Given the description of an element on the screen output the (x, y) to click on. 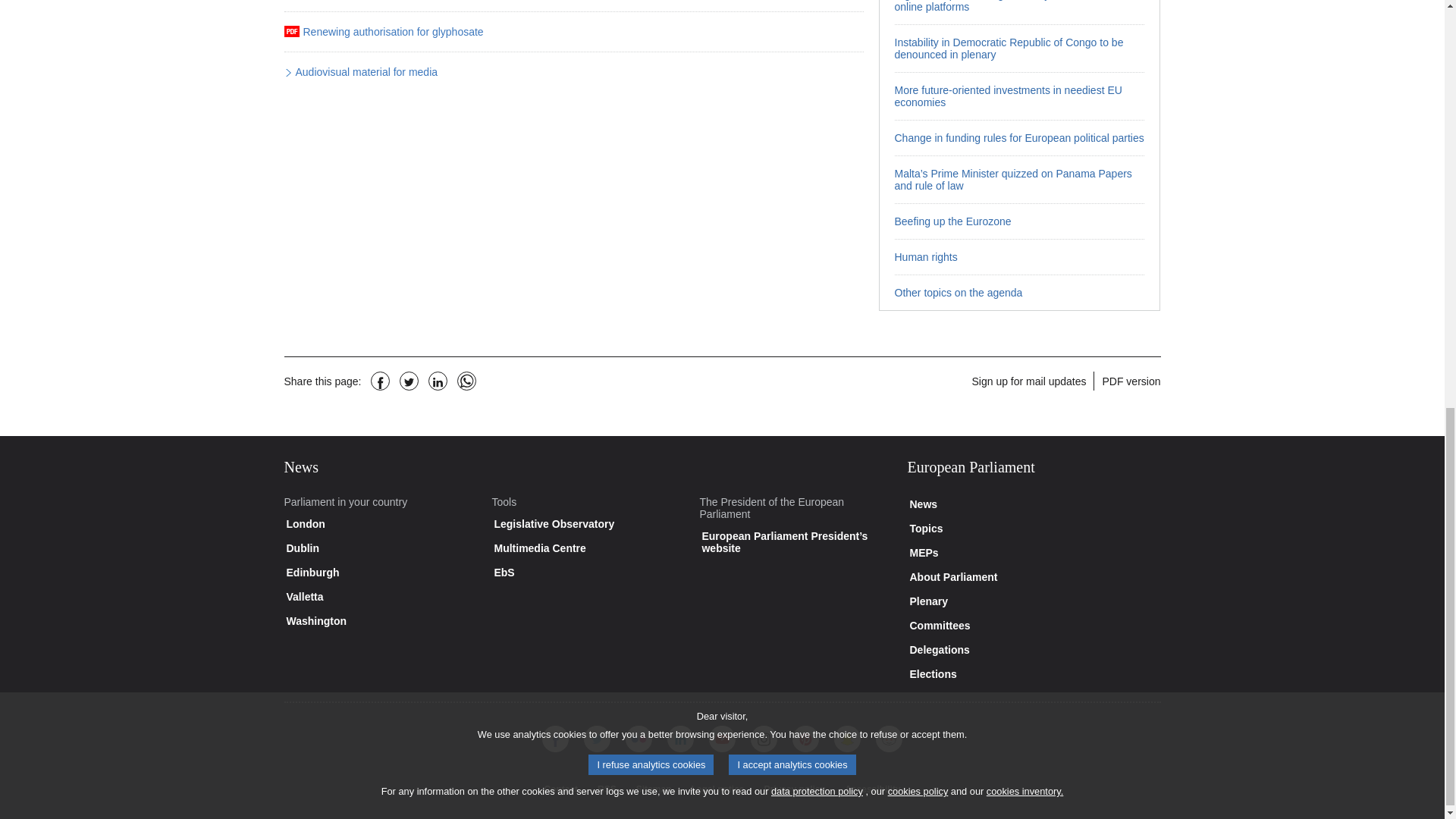
Go to the page (1019, 95)
Open in a new page (364, 72)
Go to the page (1019, 12)
Go to the page (1019, 48)
Read the PDF document (390, 32)
Go to the page (1019, 137)
Go to the page (1019, 179)
